Given the description of an element on the screen output the (x, y) to click on. 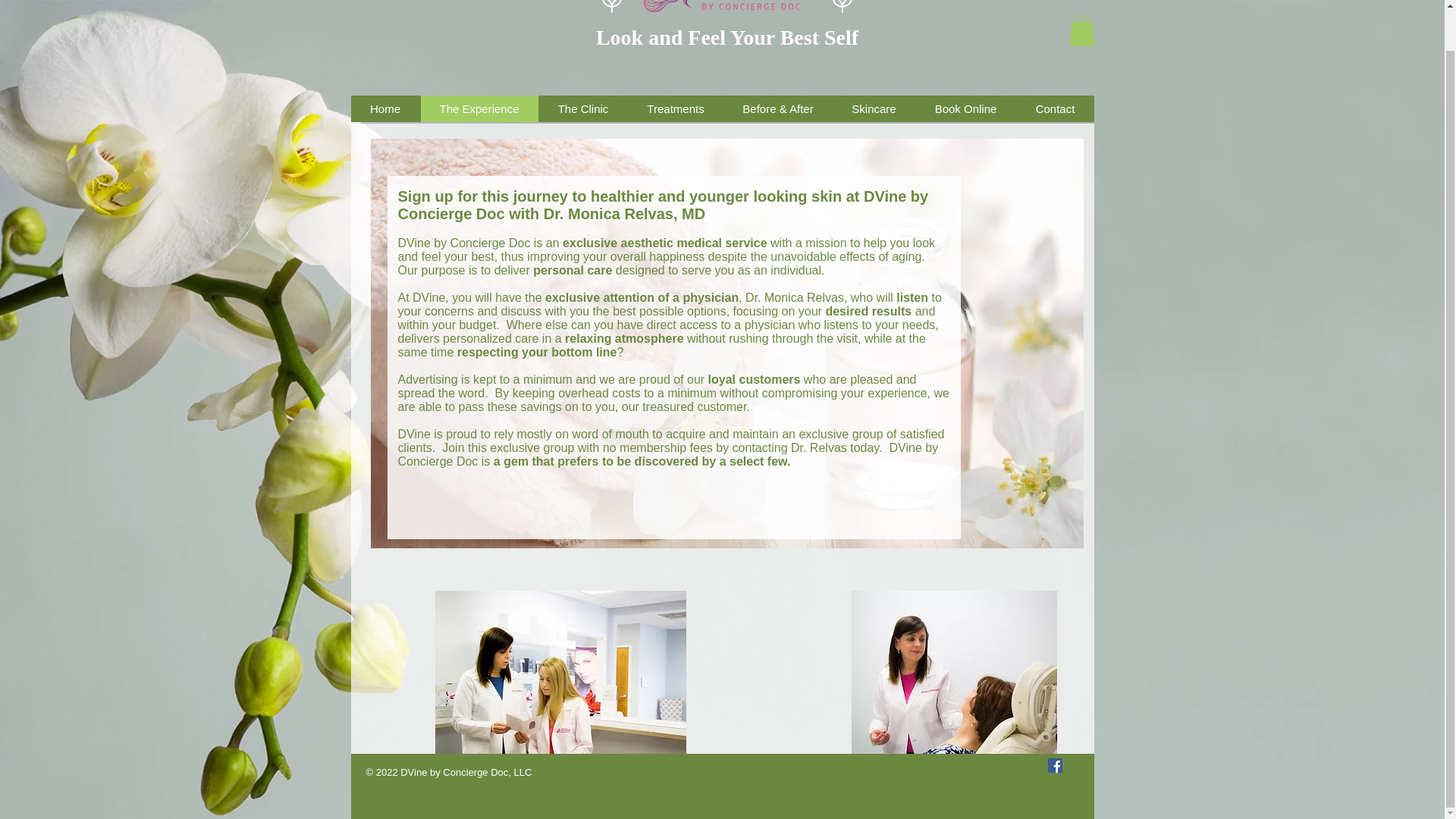
Look and Feel Your Best Self (727, 37)
Book Online (964, 108)
Skincare (873, 108)
The Clinic (582, 108)
Contact (1055, 108)
Home (384, 108)
Treatments (675, 108)
The Experience (479, 108)
